Given the description of an element on the screen output the (x, y) to click on. 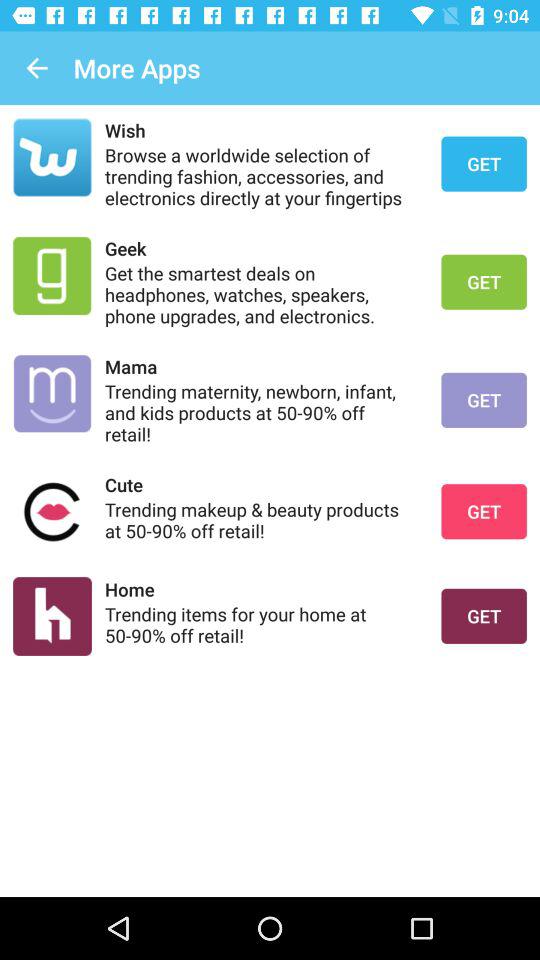
turn on the item next to get (260, 248)
